Given the description of an element on the screen output the (x, y) to click on. 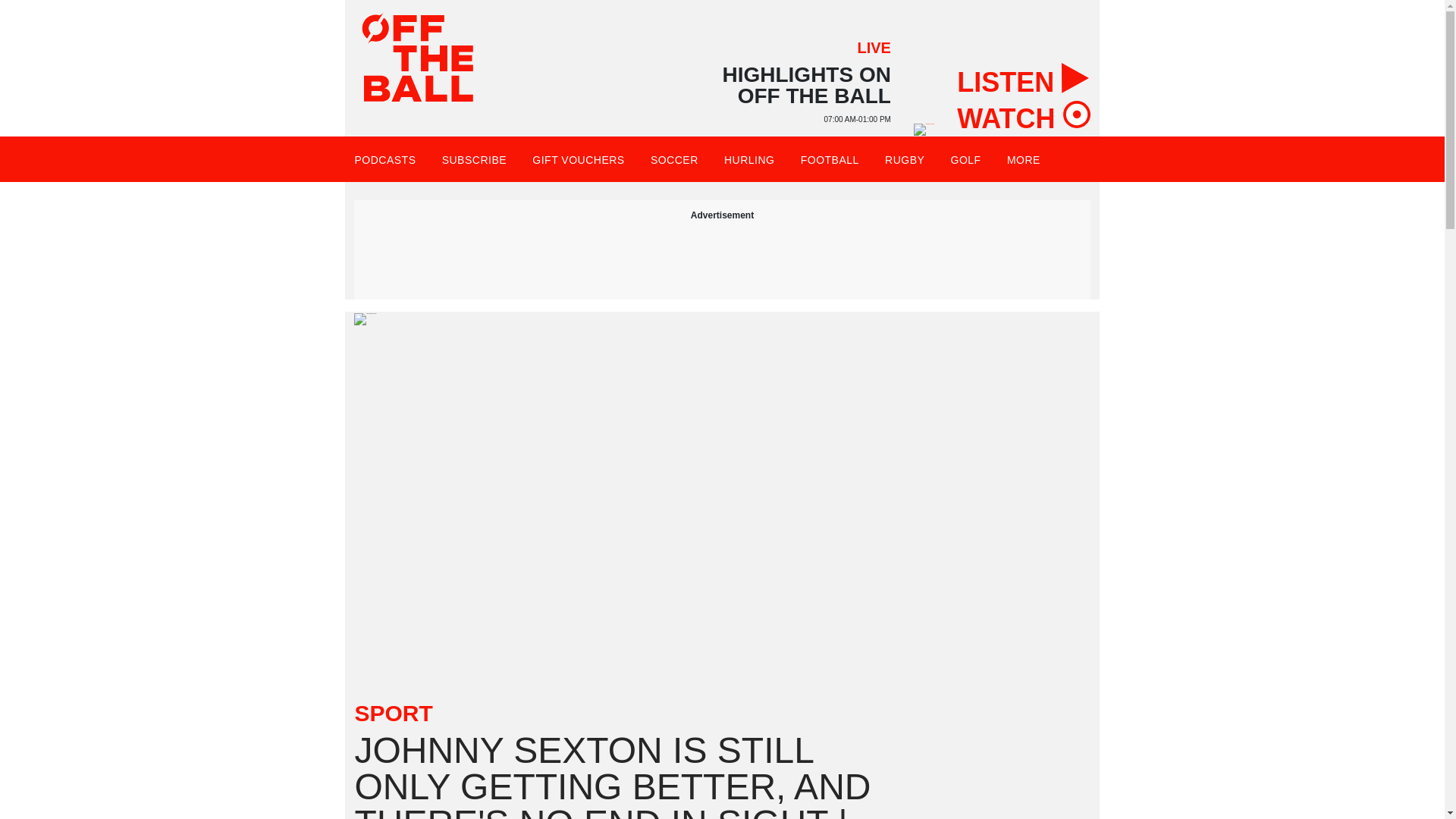
Football (829, 158)
GIFT VOUCHERS (578, 158)
MORE (1029, 158)
WATCH (1022, 114)
Gift vouchers (578, 158)
Podcasts (383, 158)
Highlights on Off The Ball (924, 129)
Subscribe (474, 158)
HURLING (748, 158)
LISTEN (1022, 77)
PODCASTS (383, 158)
Soccer (674, 158)
SUBSCRIBE (474, 158)
SOCCER (674, 158)
FOOTBALL (829, 158)
